Given the description of an element on the screen output the (x, y) to click on. 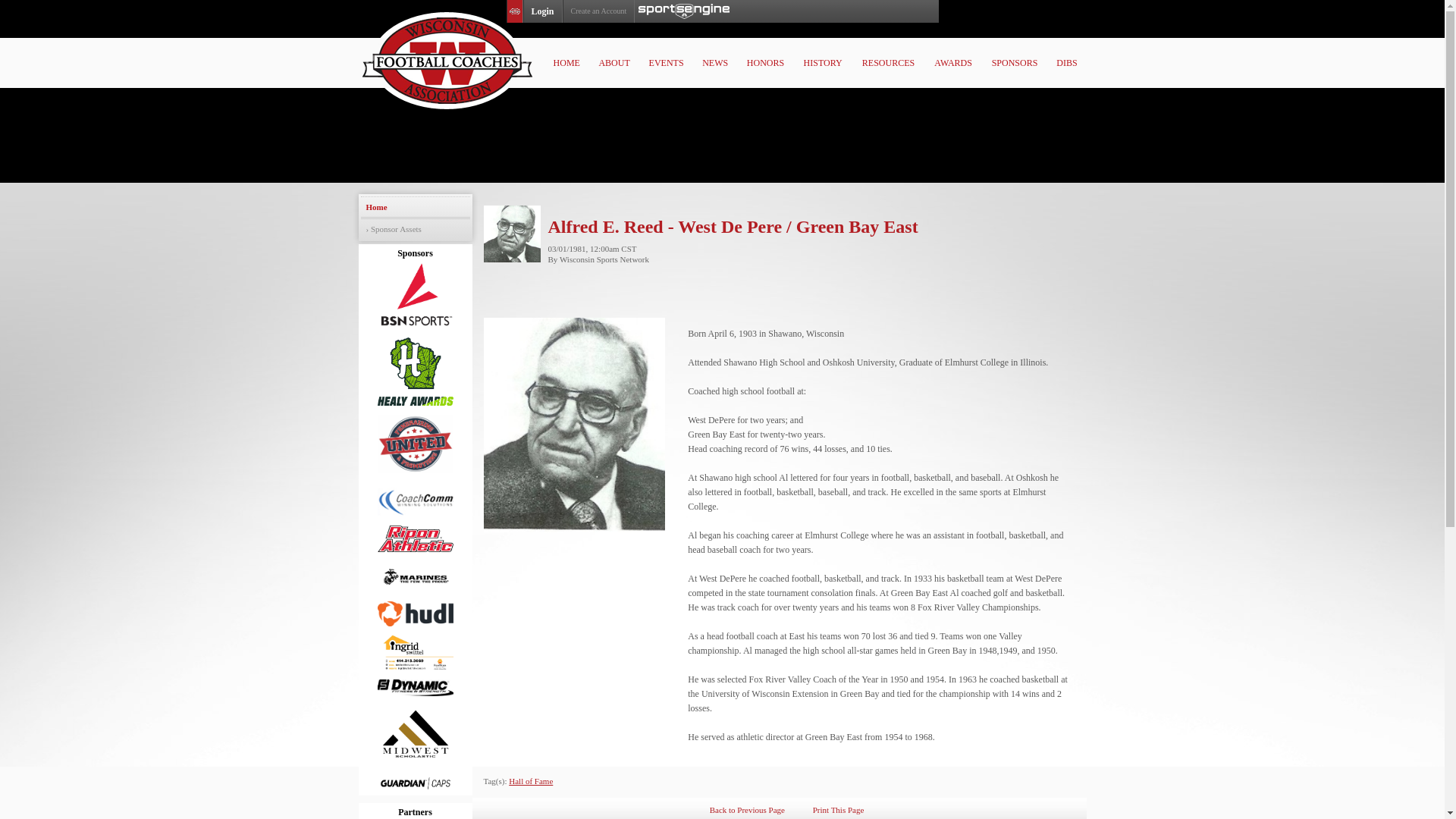
SportsEngine (684, 11)
Wisconsin Football Coaches Association (733, 47)
EVENTS (666, 62)
Login (542, 11)
Wisconsin Football Coaches Association Homepage (733, 47)
Login (542, 11)
click to go to 'Home' (566, 62)
ABOUT (614, 62)
Create an Account (598, 11)
click to go to 'About' (614, 62)
